Given the description of an element on the screen output the (x, y) to click on. 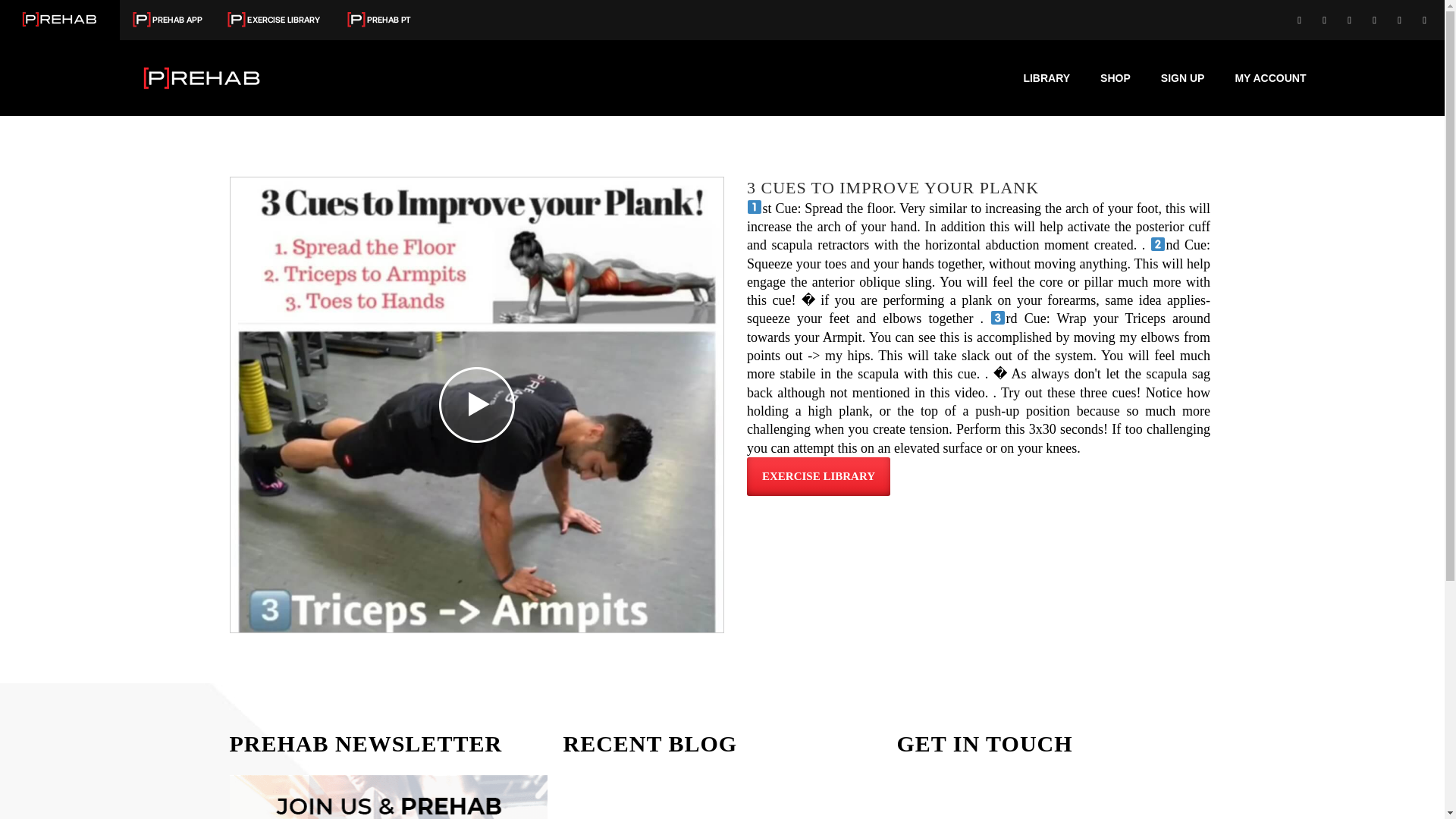
Form 0 (1055, 796)
